Given the description of an element on the screen output the (x, y) to click on. 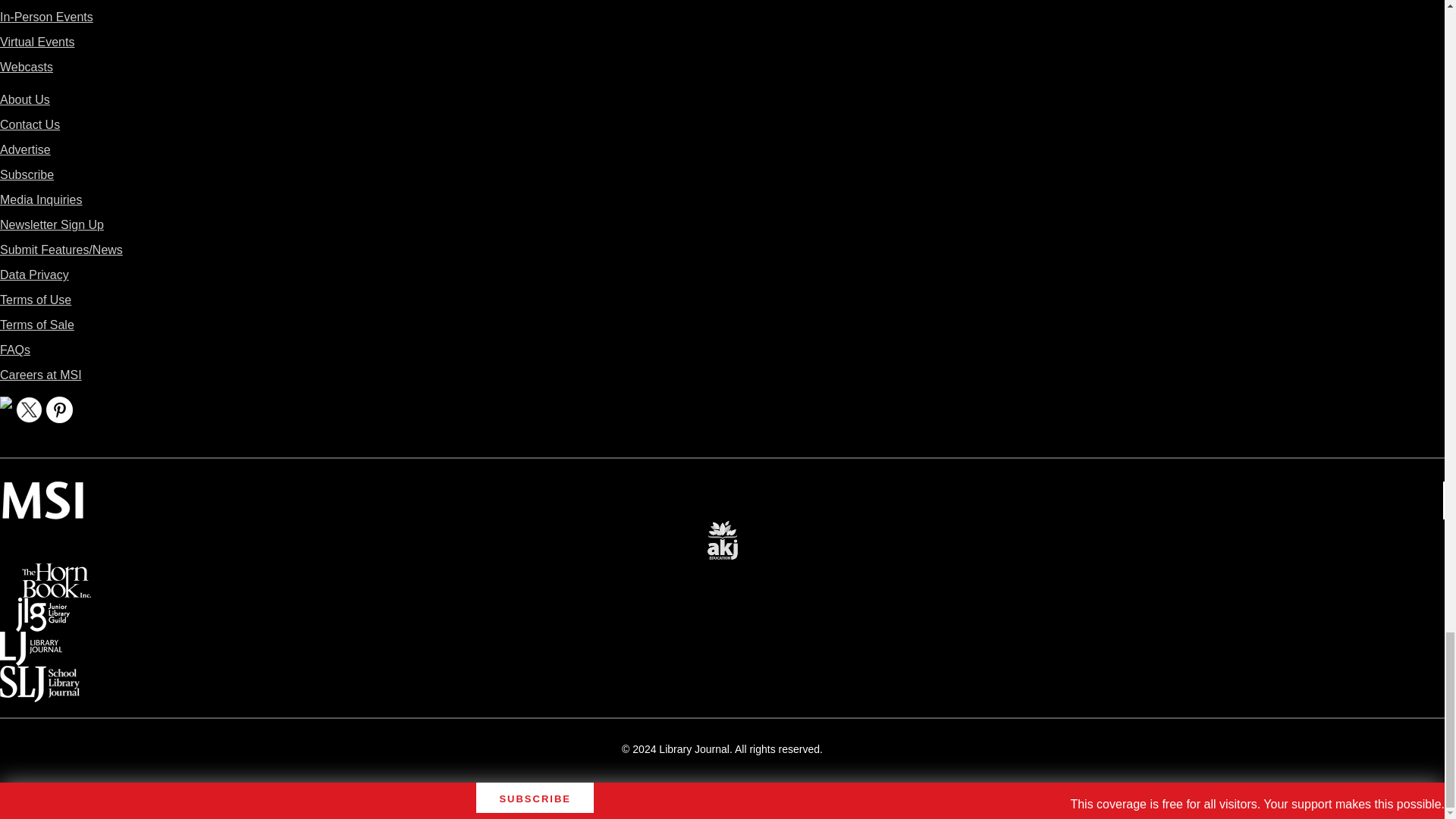
The Horn Book (56, 573)
AKJ (722, 529)
School Library Journal (40, 676)
Media Source Incorporated (42, 491)
Junior Library Guild (42, 607)
